Given the description of an element on the screen output the (x, y) to click on. 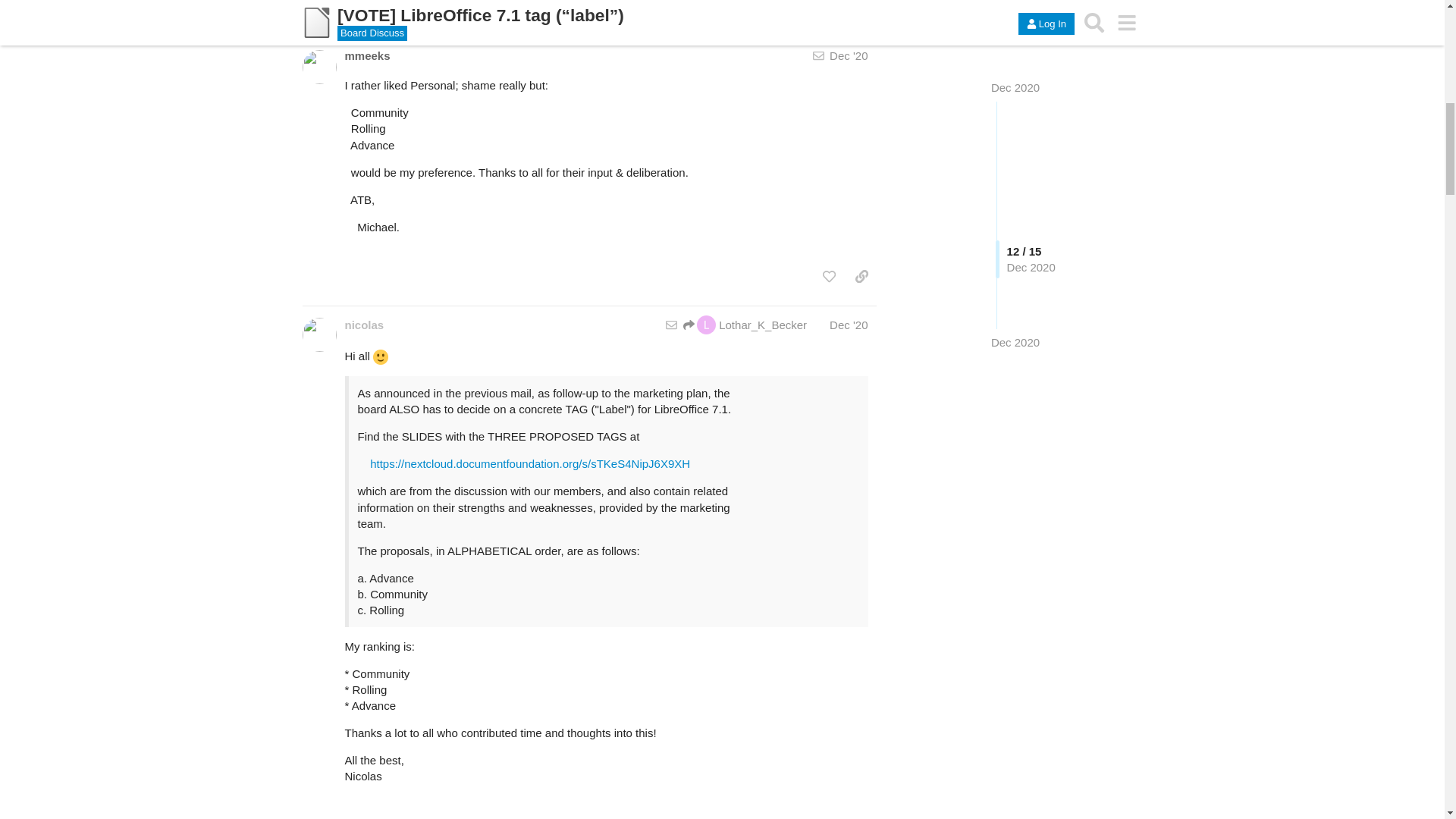
Dec 7, 2020 11:28 pm (388, 9)
Dec '20 (848, 55)
nicolas (363, 324)
mmeeks (366, 55)
Lothar K. Becker (359, 8)
Dec 11, 2020 9:50 pm (461, 9)
Dec '20 (848, 324)
expand topic details (850, 11)
Florian Effenberger (431, 8)
